Given the description of an element on the screen output the (x, y) to click on. 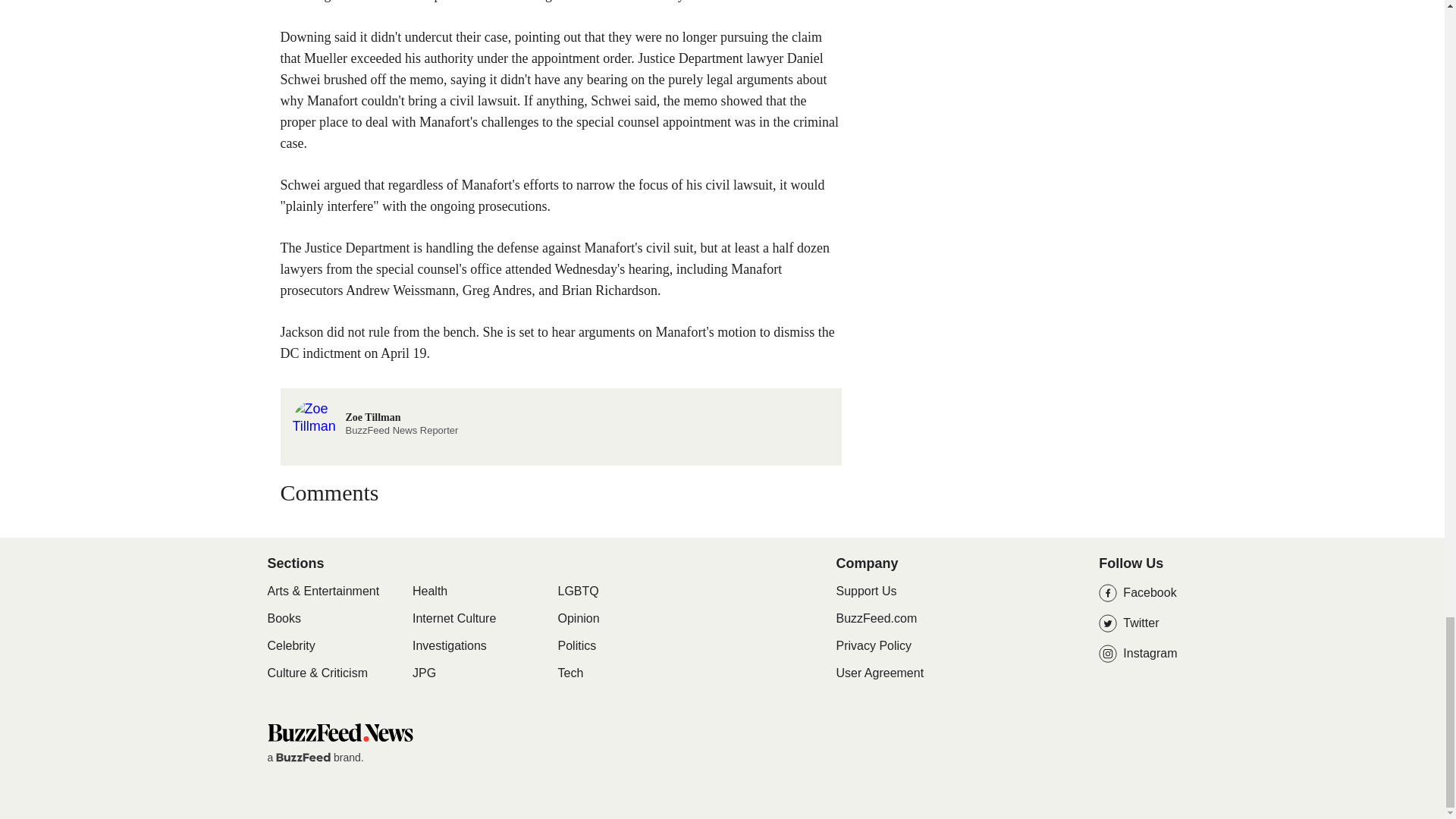
Health (429, 590)
Tech (570, 672)
Investigations (449, 645)
BuzzFeed.com (876, 617)
User Agreement (879, 672)
JPG (423, 672)
Support Us (865, 590)
Facebook (1137, 592)
Privacy Policy (873, 645)
Celebrity (290, 645)
Twitter (1137, 623)
LGBTQ (577, 590)
BuzzFeed News Home (375, 408)
Internet Culture (339, 732)
